Given the description of an element on the screen output the (x, y) to click on. 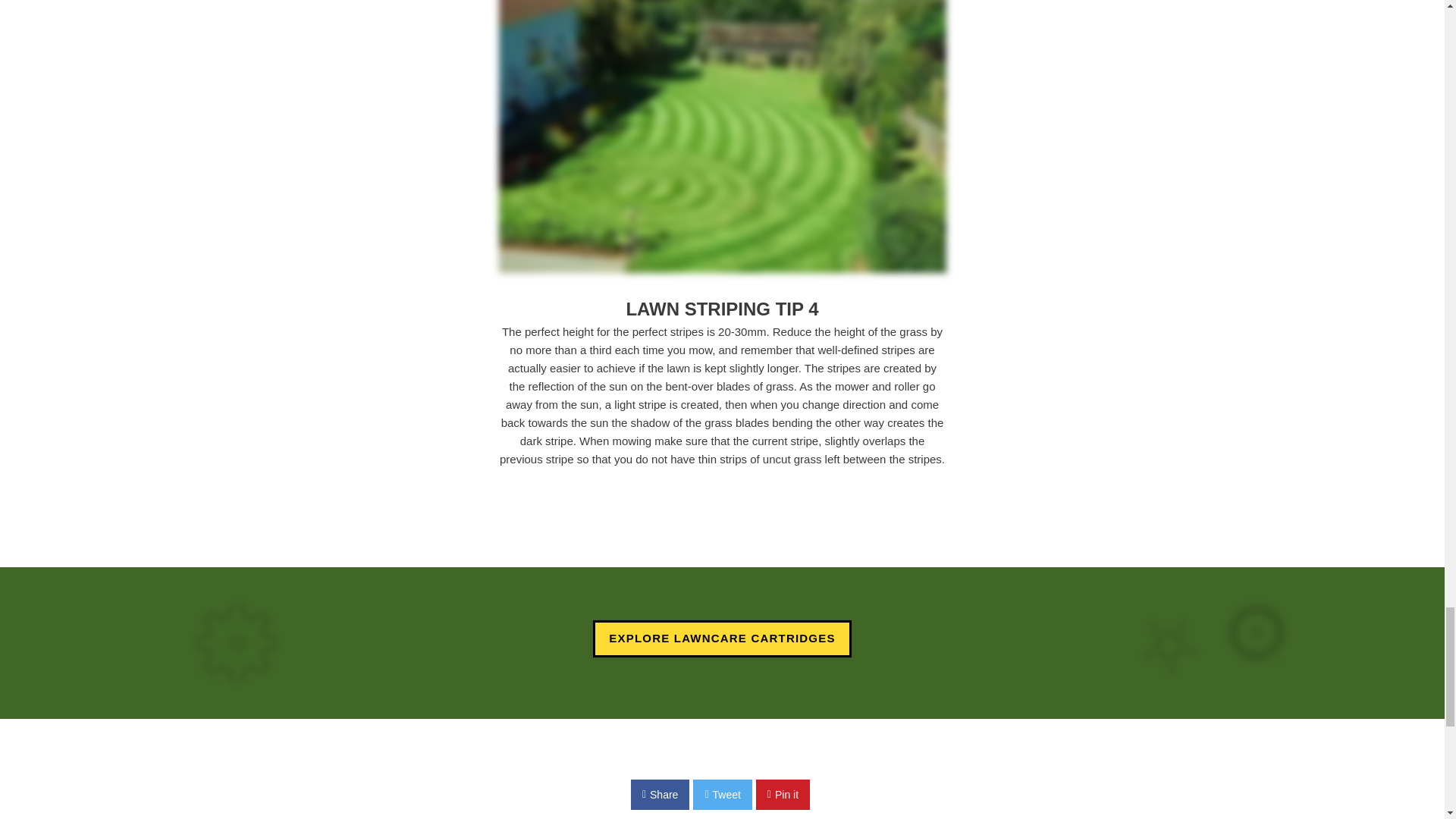
facebook (659, 794)
pinterest (782, 794)
twitter (722, 794)
